Given the description of an element on the screen output the (x, y) to click on. 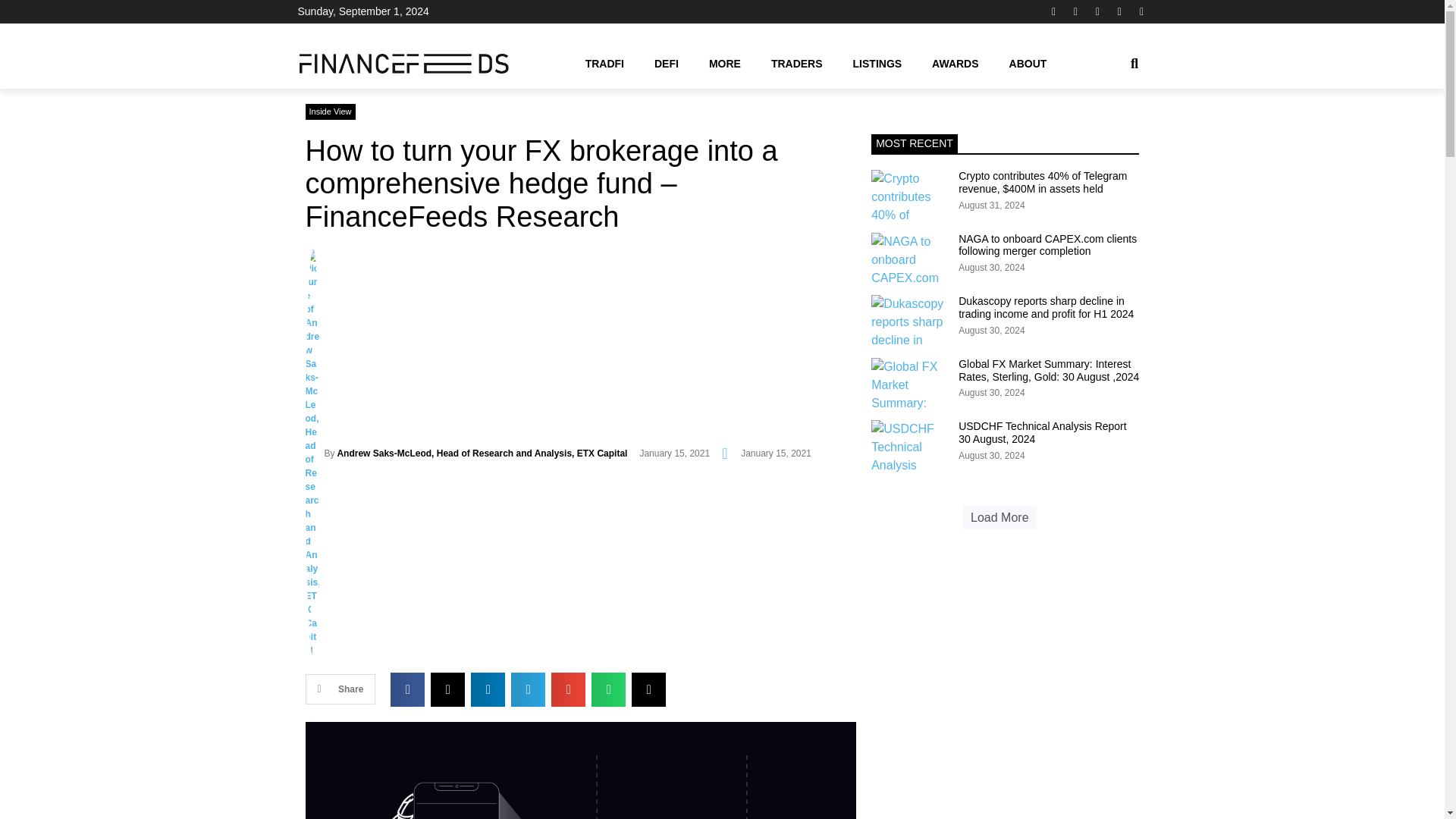
TRADFI (604, 63)
LISTINGS (877, 63)
DEFI (666, 63)
AWARDS (954, 63)
MORE (724, 63)
ABOUT (1028, 63)
TRADERS (796, 63)
